Given the description of an element on the screen output the (x, y) to click on. 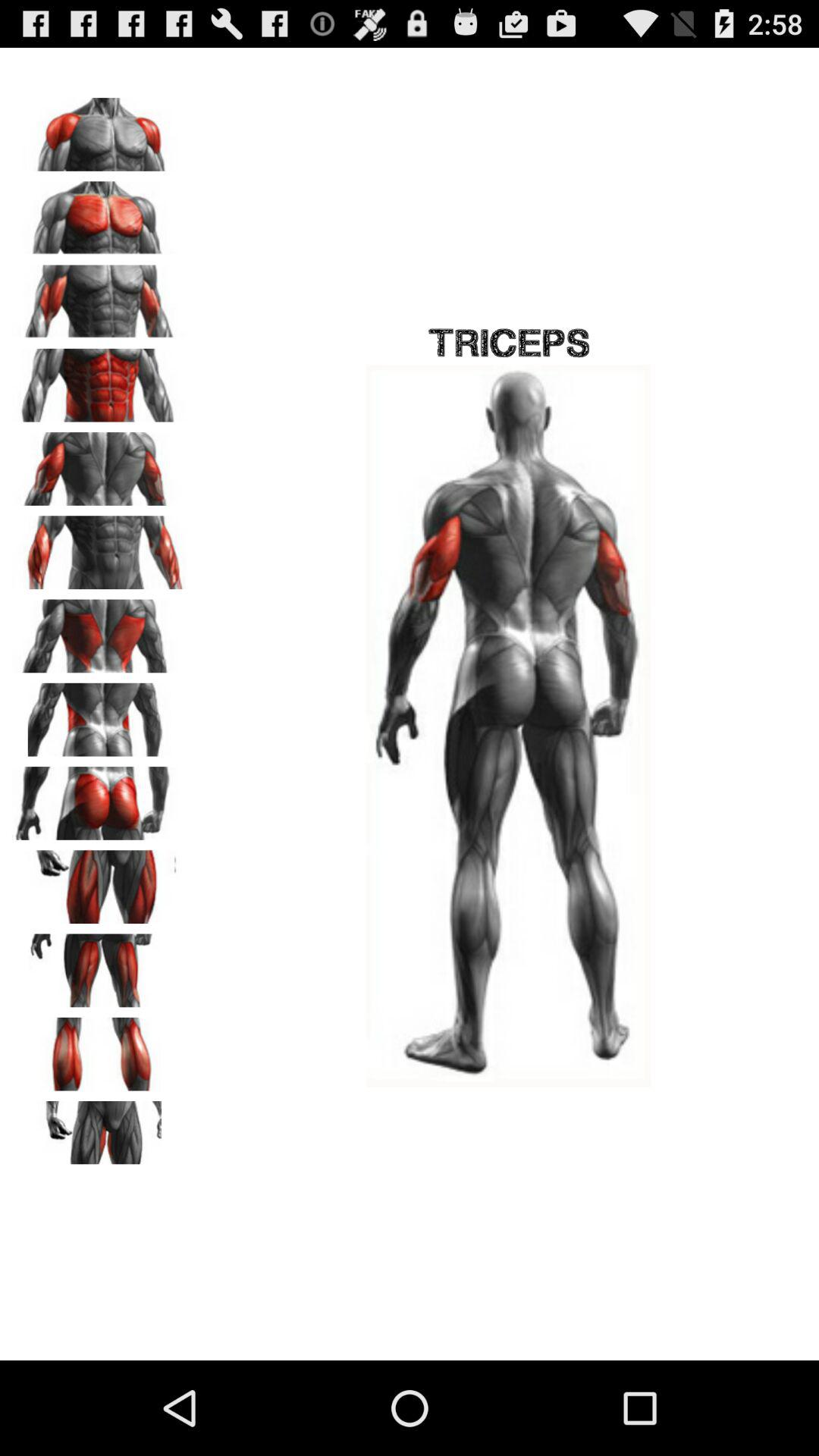
change image (99, 212)
